Given the description of an element on the screen output the (x, y) to click on. 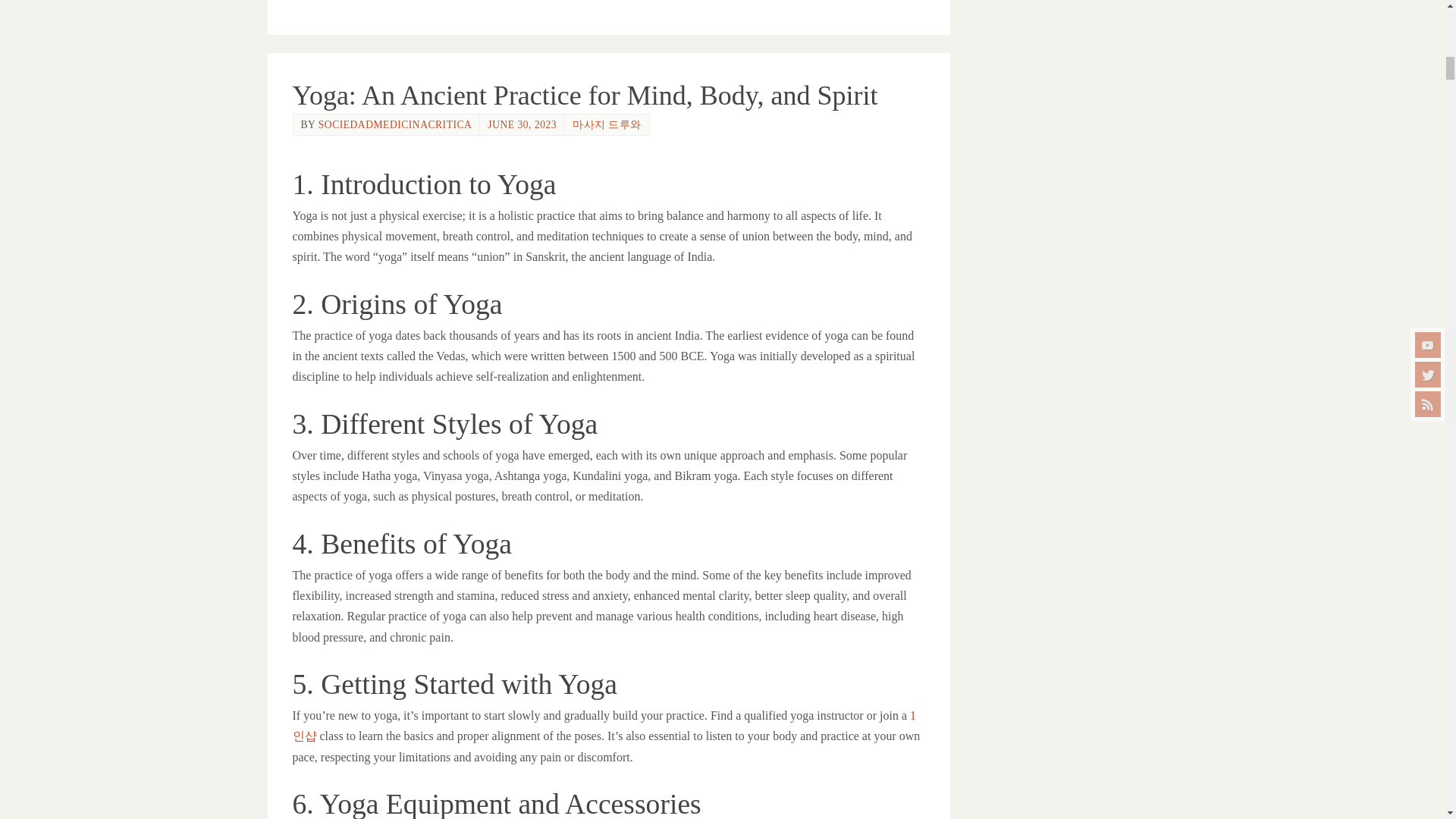
View all posts by sociedadmedicinacritica (394, 124)
SOCIEDADMEDICINACRITICA (394, 124)
Yoga: An Ancient Practice for Mind, Body, and Spirit (584, 95)
JUNE 30, 2023 (521, 124)
